Given the description of an element on the screen output the (x, y) to click on. 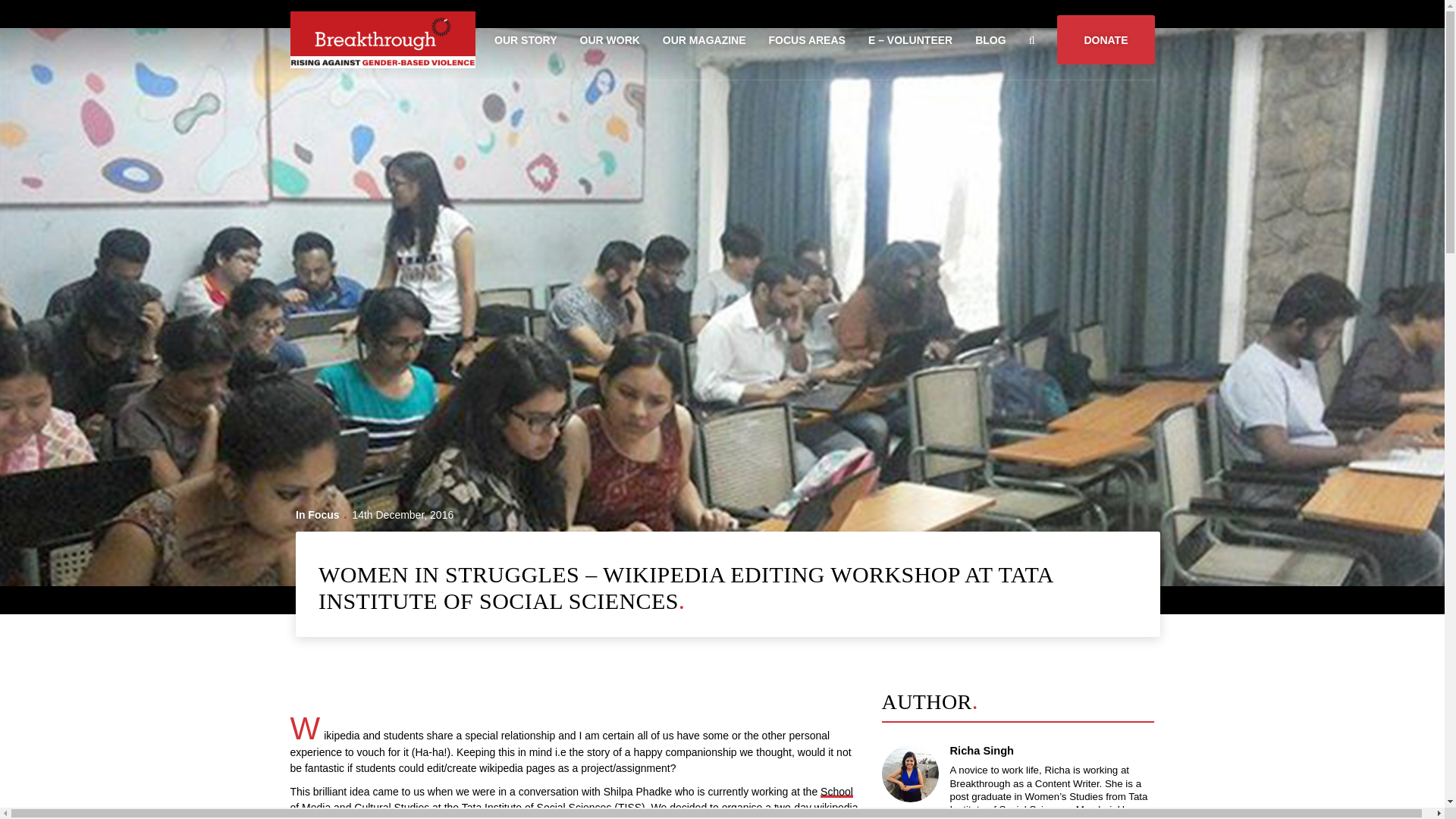
Our Magazine (703, 39)
In Focus (317, 514)
Tata Institute of Social Sciences (536, 807)
FOCUS AREAS (806, 39)
Focus Areas (806, 39)
OUR MAGAZINE (703, 39)
Subscribe (29, 9)
DONATE (1105, 39)
School of Media and Cultural Studies (570, 799)
